Given the description of an element on the screen output the (x, y) to click on. 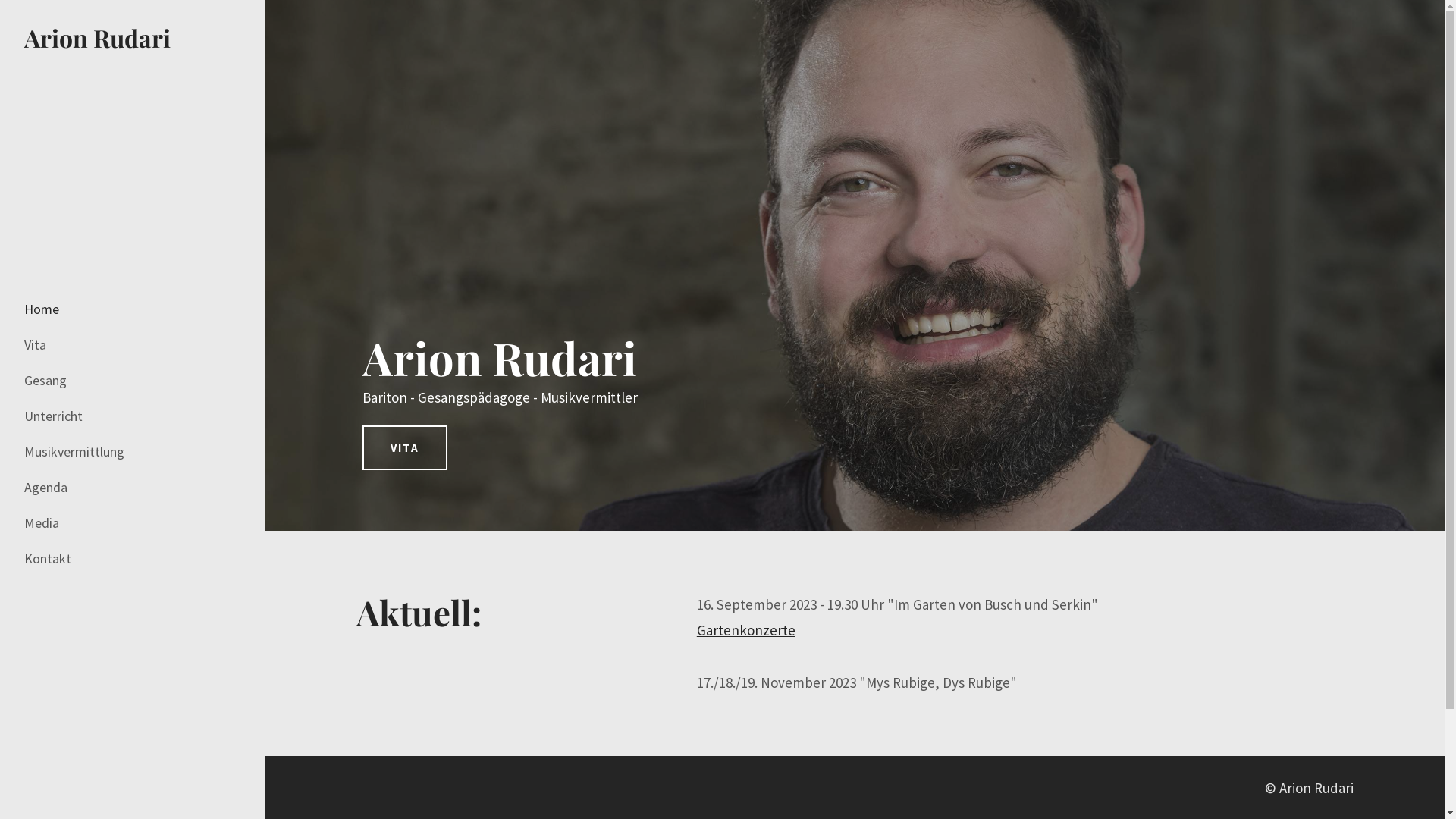
Unterricht Element type: text (57, 416)
Home Element type: text (41, 309)
Gesang Element type: text (49, 380)
Musikvermittlung Element type: text (78, 451)
VITA Element type: text (404, 447)
Kontakt Element type: text (52, 558)
Gartenkonzerte Element type: text (745, 630)
Agenda Element type: text (50, 487)
Vita Element type: text (39, 344)
Arion Rudari Element type: text (97, 37)
Media Element type: text (46, 523)
